Given the description of an element on the screen output the (x, y) to click on. 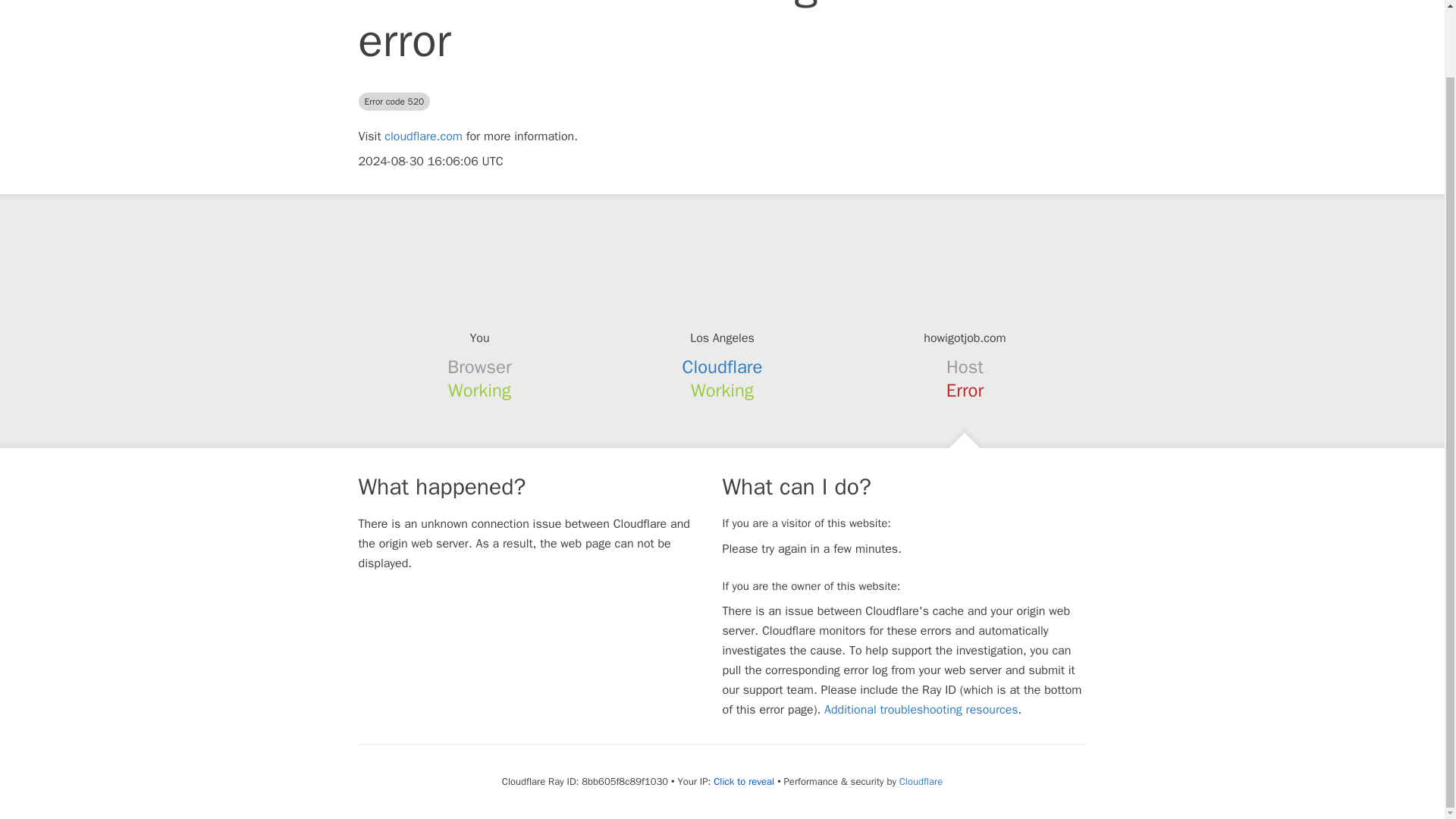
Click to reveal (743, 781)
Cloudflare (722, 366)
cloudflare.com (423, 136)
Additional troubleshooting resources (920, 709)
Cloudflare (920, 780)
